Given the description of an element on the screen output the (x, y) to click on. 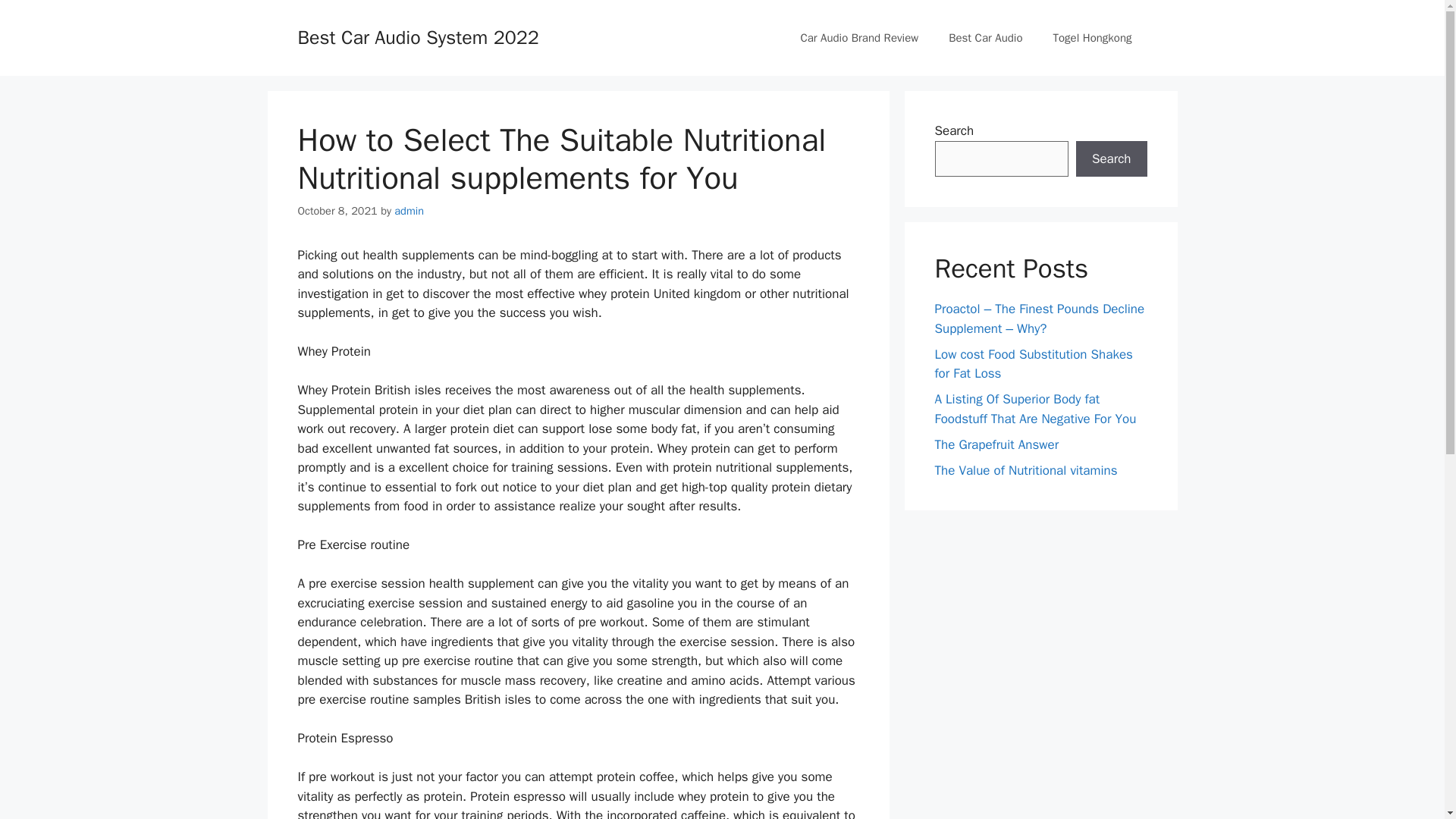
admin (408, 210)
Search (1111, 158)
The Grapefruit Answer (996, 444)
Togel Hongkong (1091, 37)
The Value of Nutritional vitamins (1025, 470)
Low cost Food Substitution Shakes for Fat Loss (1033, 363)
Car Audio Brand Review (858, 37)
View all posts by admin (408, 210)
Best Car Audio System 2022 (417, 37)
Best Car Audio (984, 37)
